Given the description of an element on the screen output the (x, y) to click on. 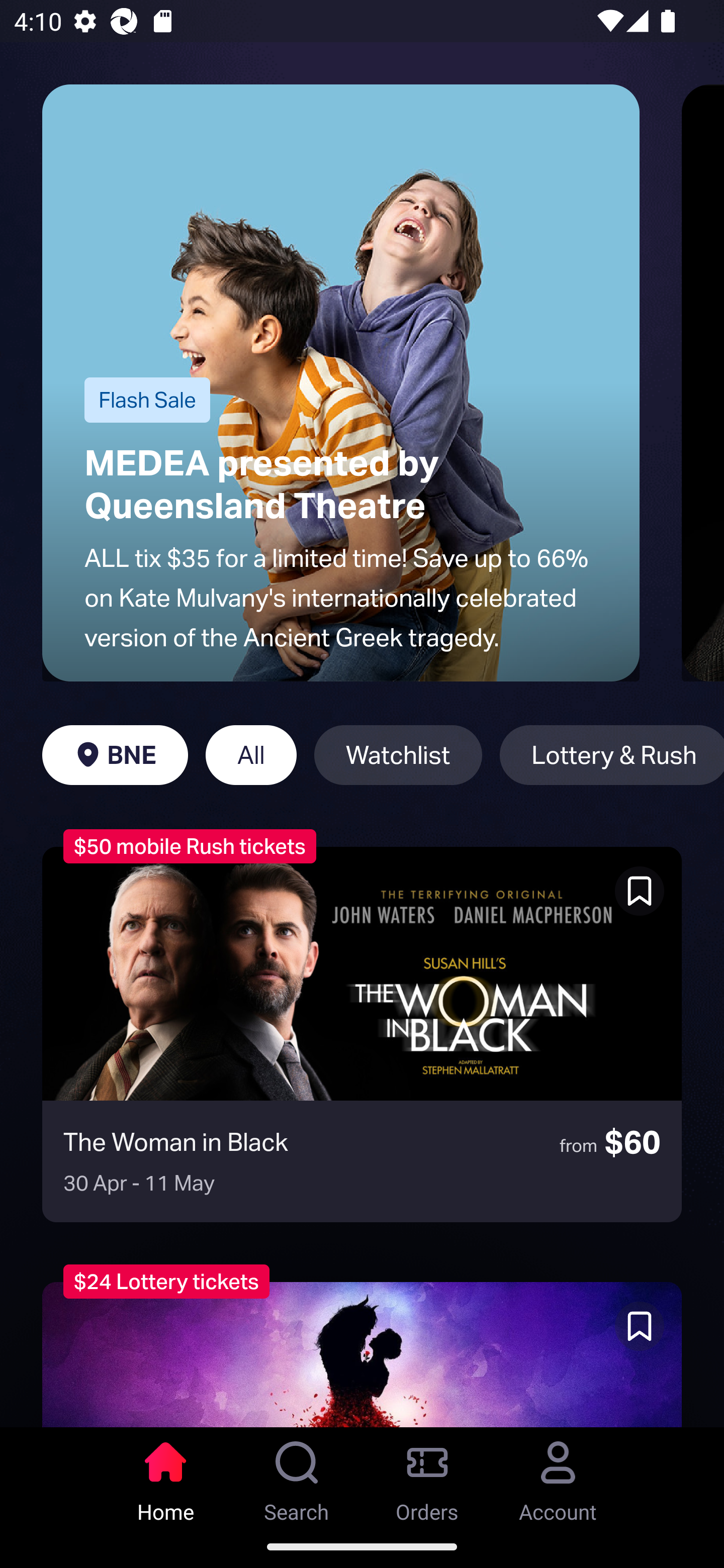
BNE (114, 754)
All (250, 754)
Watchlist (398, 754)
Lottery & Rush (611, 754)
The Woman in Black from $60 30 Apr - 11 May (361, 1033)
Search (296, 1475)
Orders (427, 1475)
Account (558, 1475)
